Given the description of an element on the screen output the (x, y) to click on. 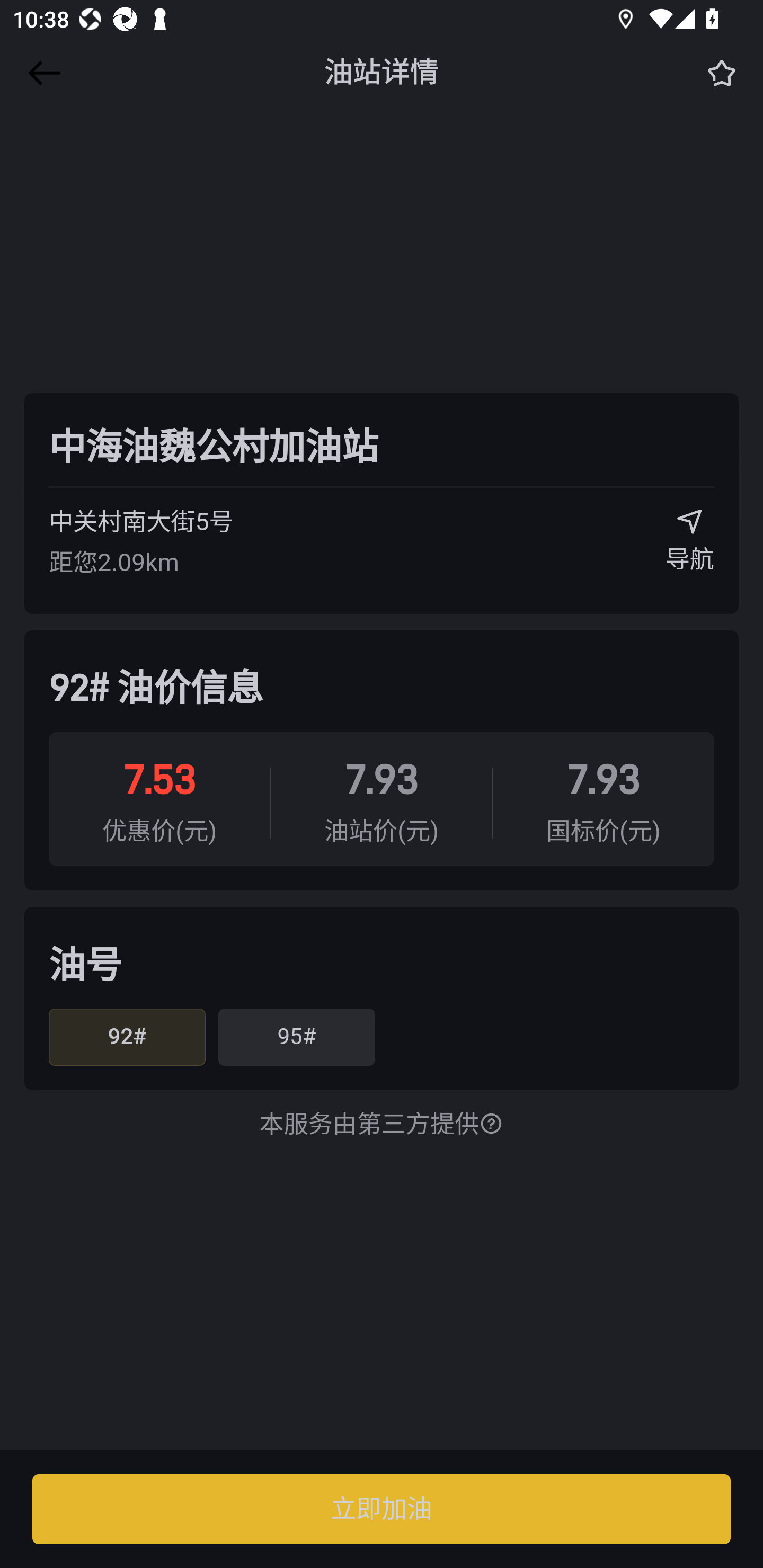
 (41, 72)
油站详情 (381, 72)
导航 (689, 547)
92#  (126, 1037)
95#  (296, 1037)
本服务由第三方提供 (381, 1124)
立即加油 (381, 1508)
